Given the description of an element on the screen output the (x, y) to click on. 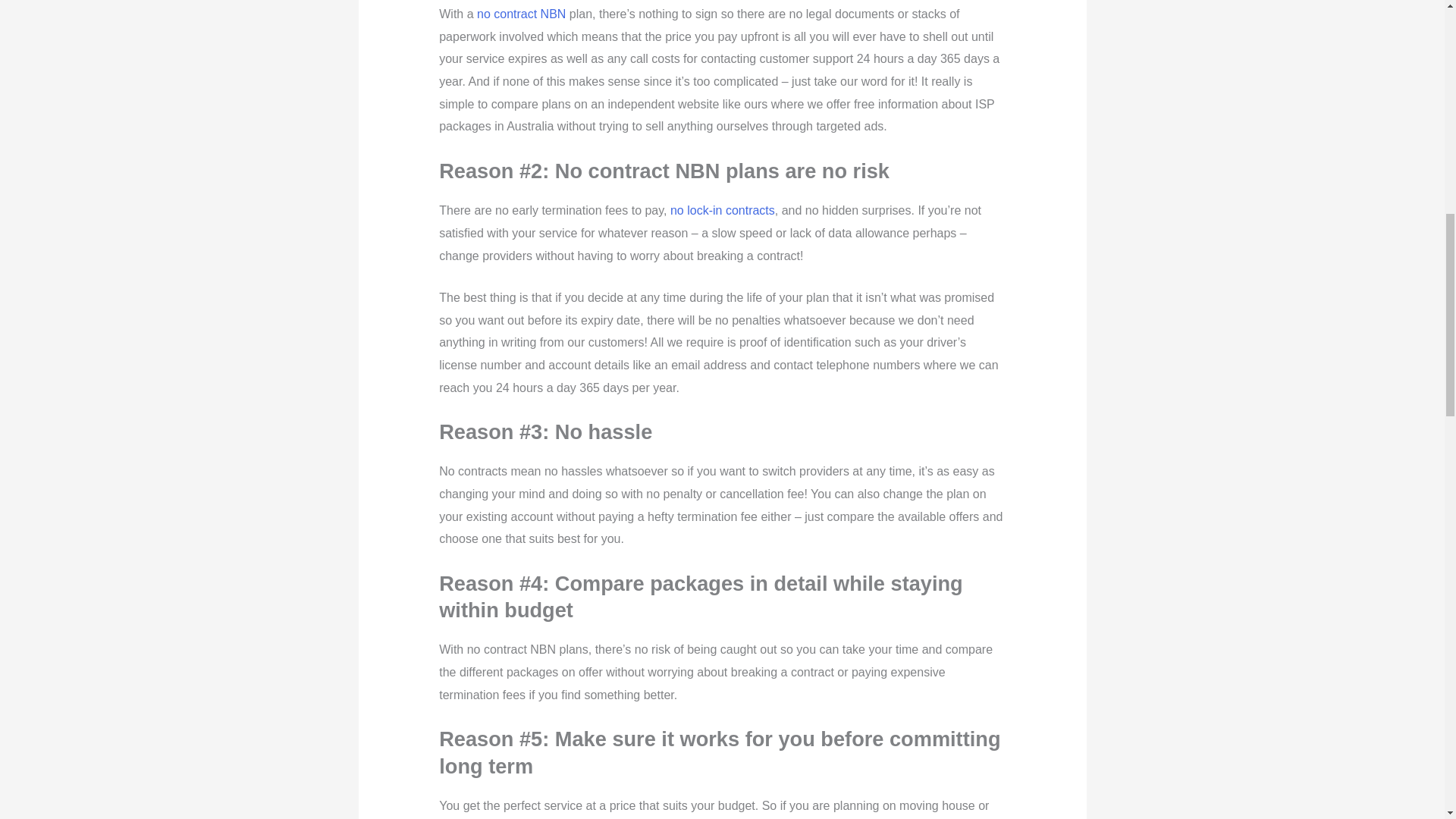
no contract NBN (521, 13)
no lock-in contracts (721, 210)
